Given the description of an element on the screen output the (x, y) to click on. 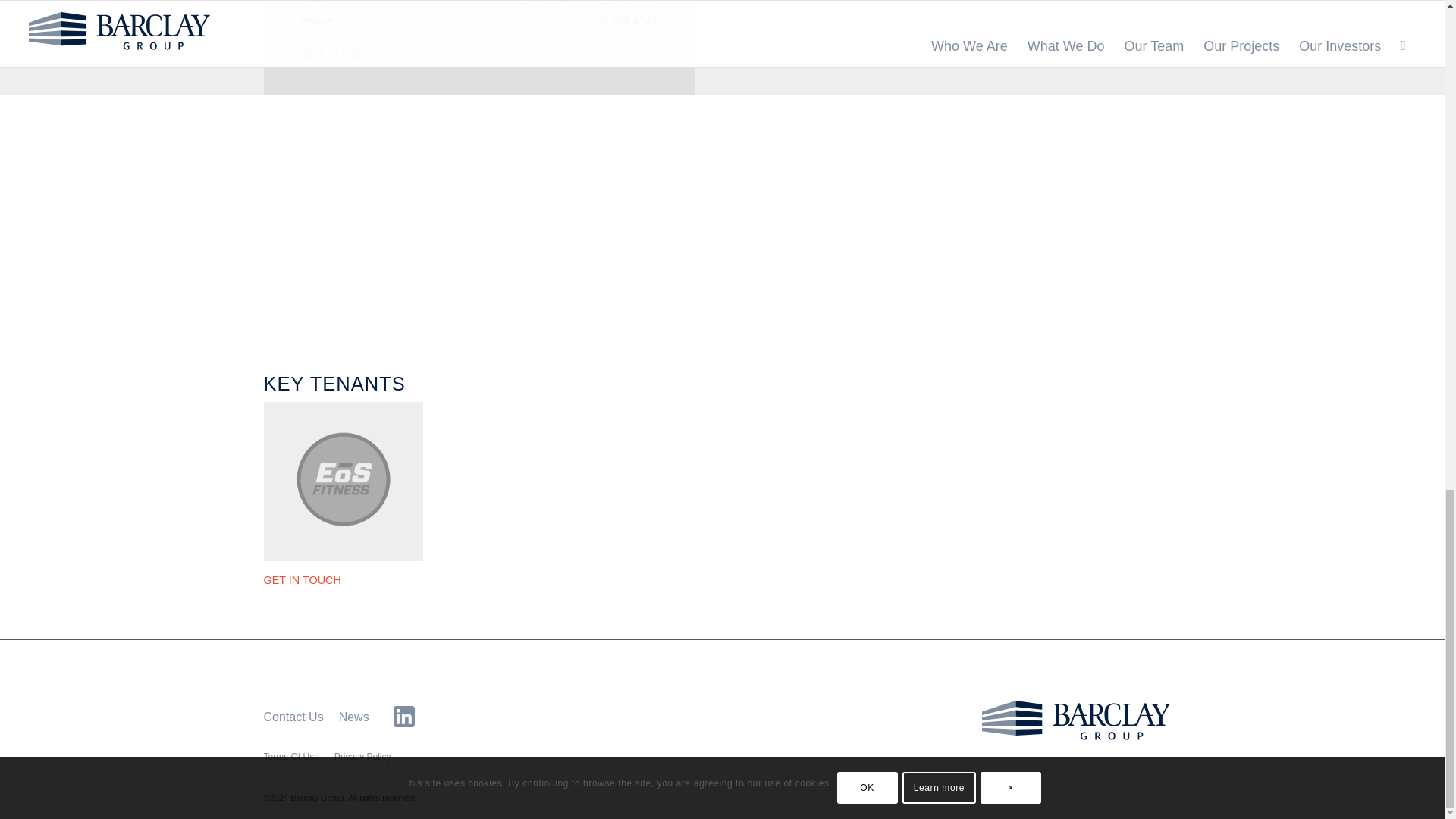
GET IN TOUCH (339, 53)
602.224.4149 (622, 20)
GET IN TOUCH (301, 580)
Privacy Policy (362, 756)
Terms Of Use (290, 756)
Contact Us (293, 716)
News (354, 716)
